Given the description of an element on the screen output the (x, y) to click on. 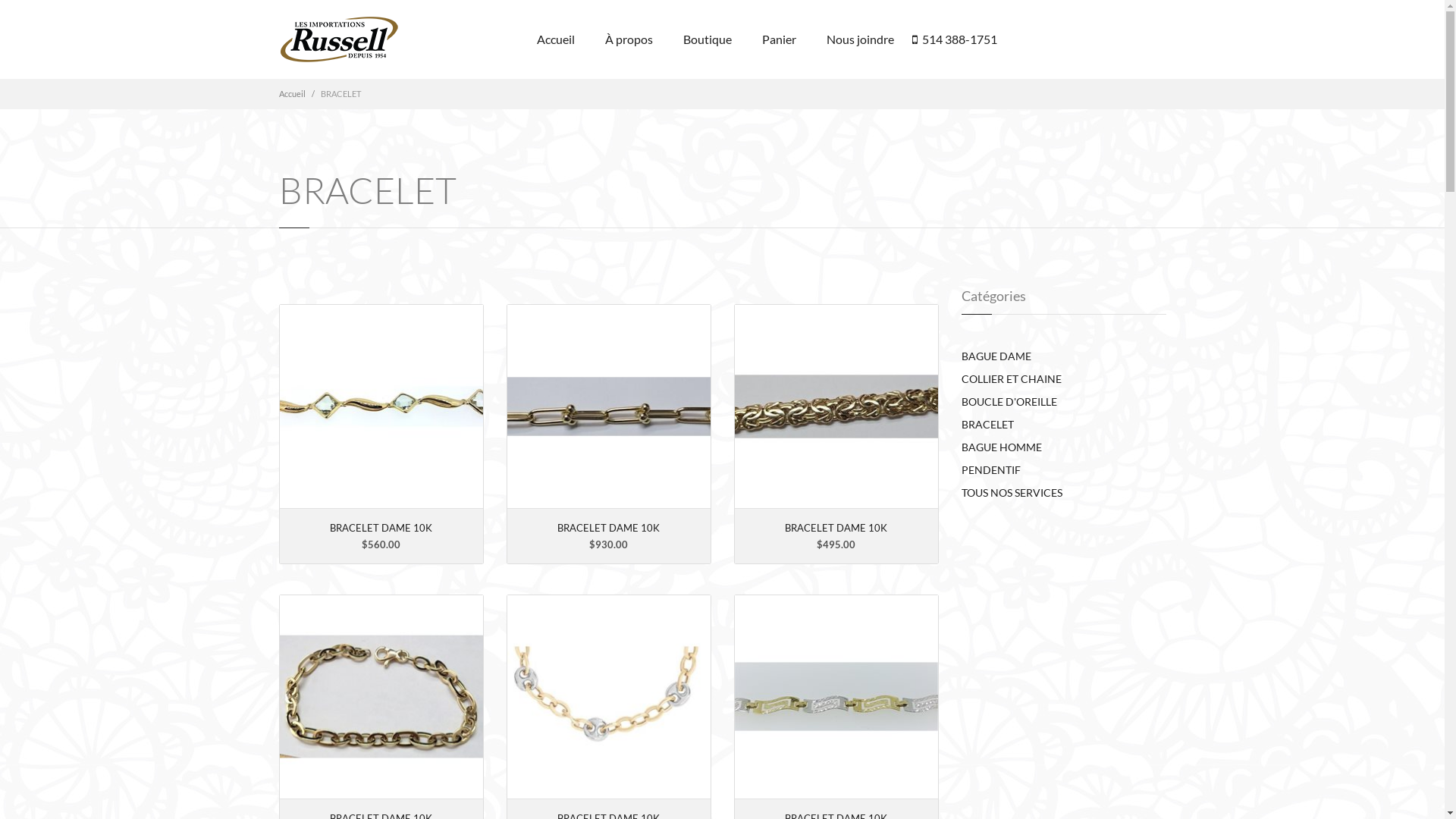
BRACELET DAME 10K Element type: text (608, 527)
Accueil Element type: text (292, 93)
TOUS NOS SERVICES Element type: text (1011, 492)
BRACELET DAME 10K Element type: text (835, 527)
Panier Element type: text (778, 38)
BOUCLE D'OREILLE Element type: text (1009, 401)
BRACELET DAME 10K Element type: text (380, 527)
PENDENTIF Element type: text (990, 469)
Boutique Element type: text (706, 38)
BRACELET Element type: text (987, 423)
COLLIER ET CHAINE Element type: text (1011, 378)
BAGUE DAME Element type: text (996, 355)
BAGUE HOMME Element type: text (1001, 446)
Accueil Element type: text (555, 38)
Nous joindre Element type: text (860, 38)
